Given the description of an element on the screen output the (x, y) to click on. 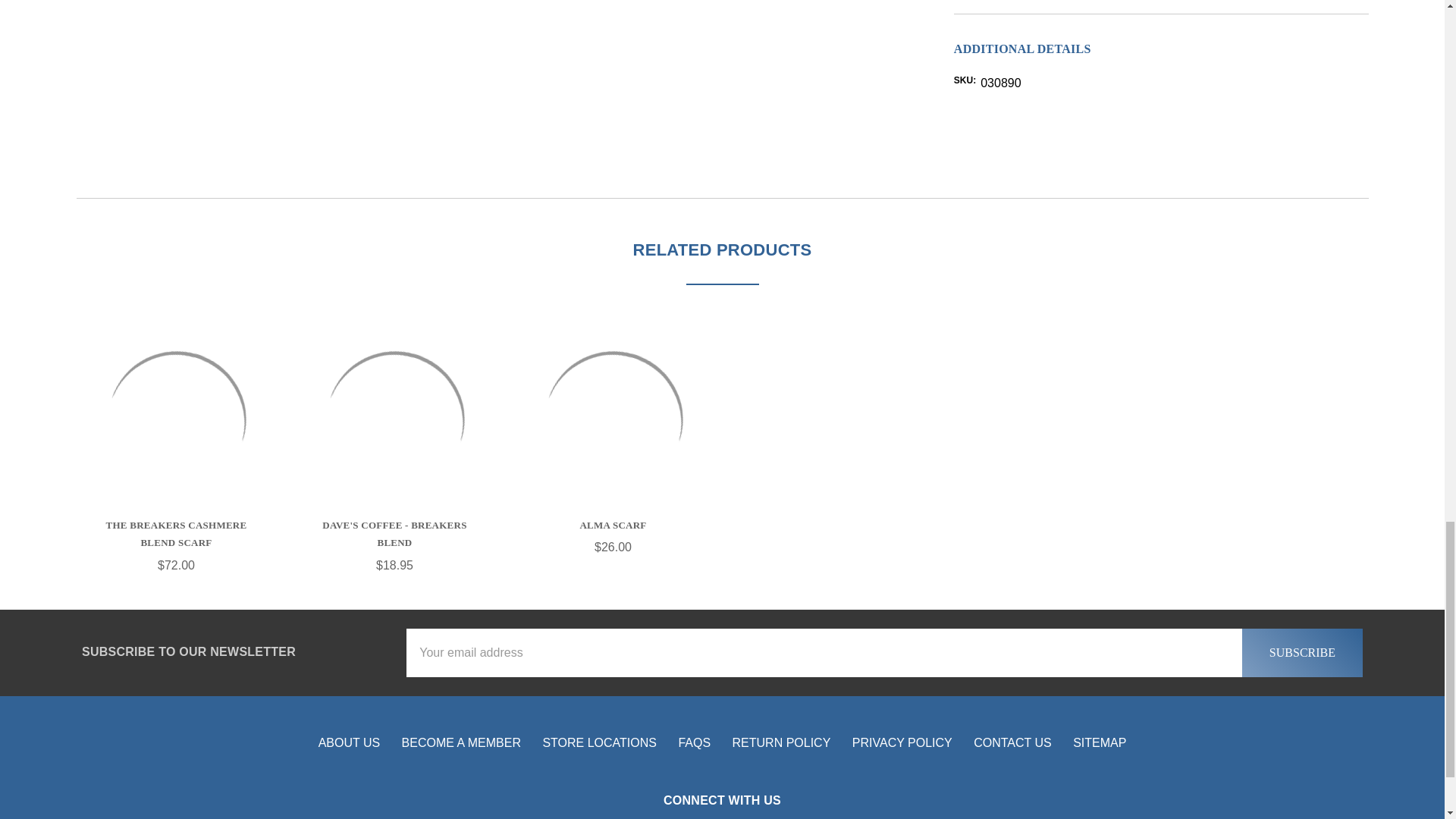
Alma Scarf (612, 420)
Dave's Coffee Breaker's Blend (394, 420)
Subscribe (1301, 652)
Custom Breakers Cashmere Blend Scarf (176, 420)
